Given the description of an element on the screen output the (x, y) to click on. 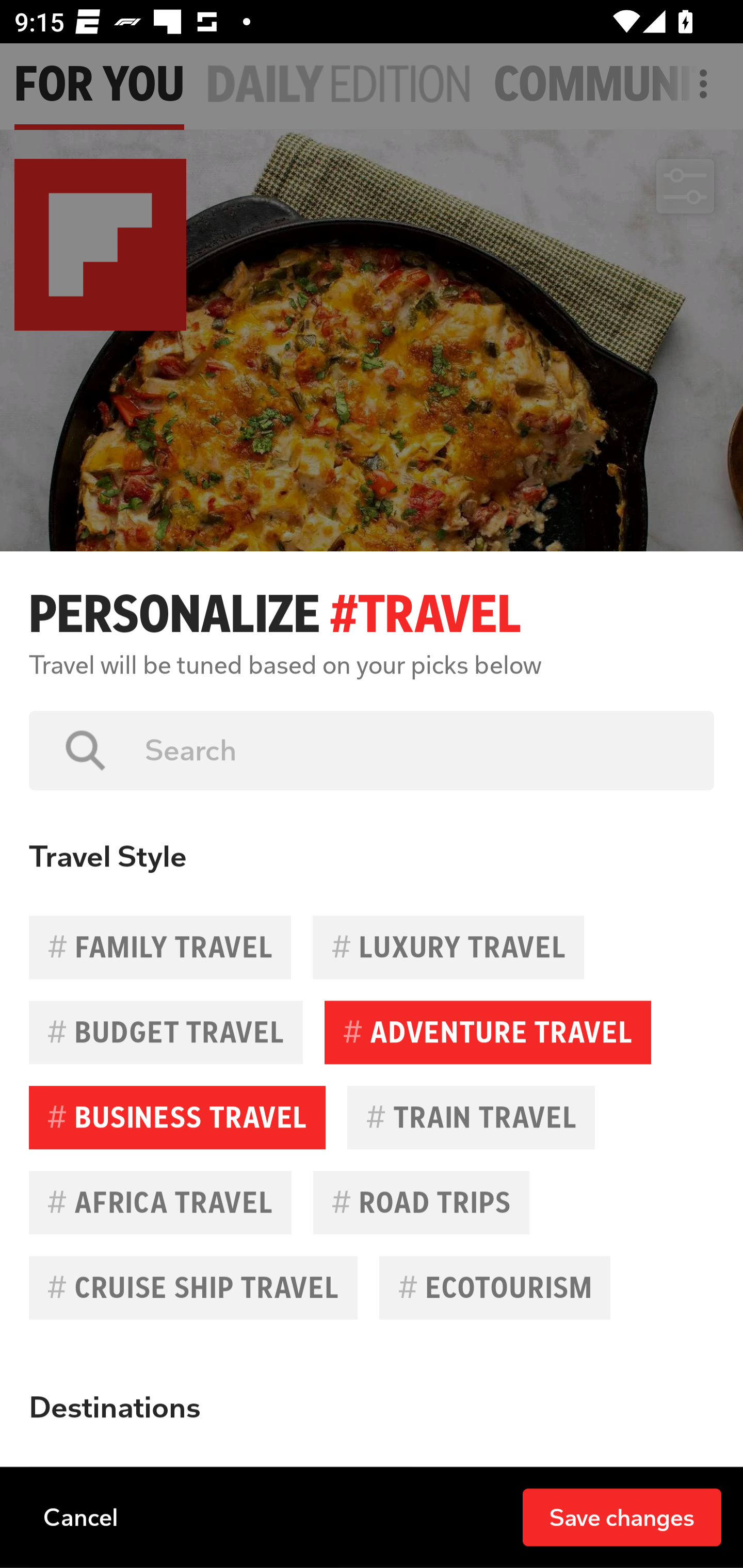
Search (414, 750)
# FAMILY TRAVEL (159, 946)
# LUXURY TRAVEL (447, 946)
# BUDGET TRAVEL (165, 1032)
# ADVENTURE TRAVEL (487, 1032)
# BUSINESS TRAVEL (176, 1117)
# TRAIN TRAVEL (470, 1117)
# AFRICA TRAVEL (159, 1202)
# ROAD TRIPS (421, 1202)
# CRUISE SHIP TRAVEL (192, 1286)
# ECOTOURISM (494, 1286)
Cancel (80, 1516)
Save changes (621, 1517)
